Given the description of an element on the screen output the (x, y) to click on. 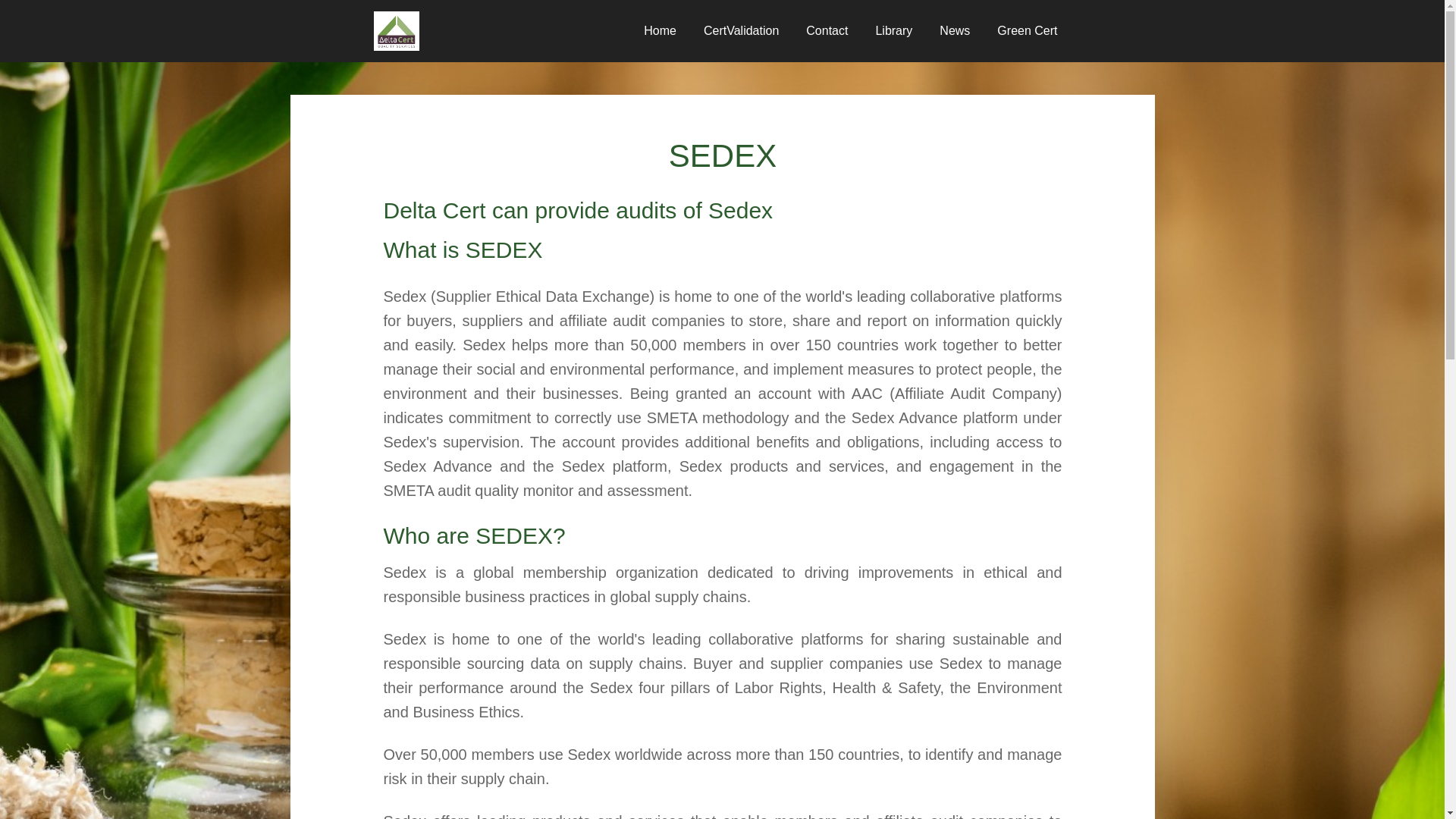
Home (660, 31)
Library (893, 31)
Contact (826, 31)
News (955, 31)
Green Cert (1027, 31)
CertValidation (741, 31)
